Given the description of an element on the screen output the (x, y) to click on. 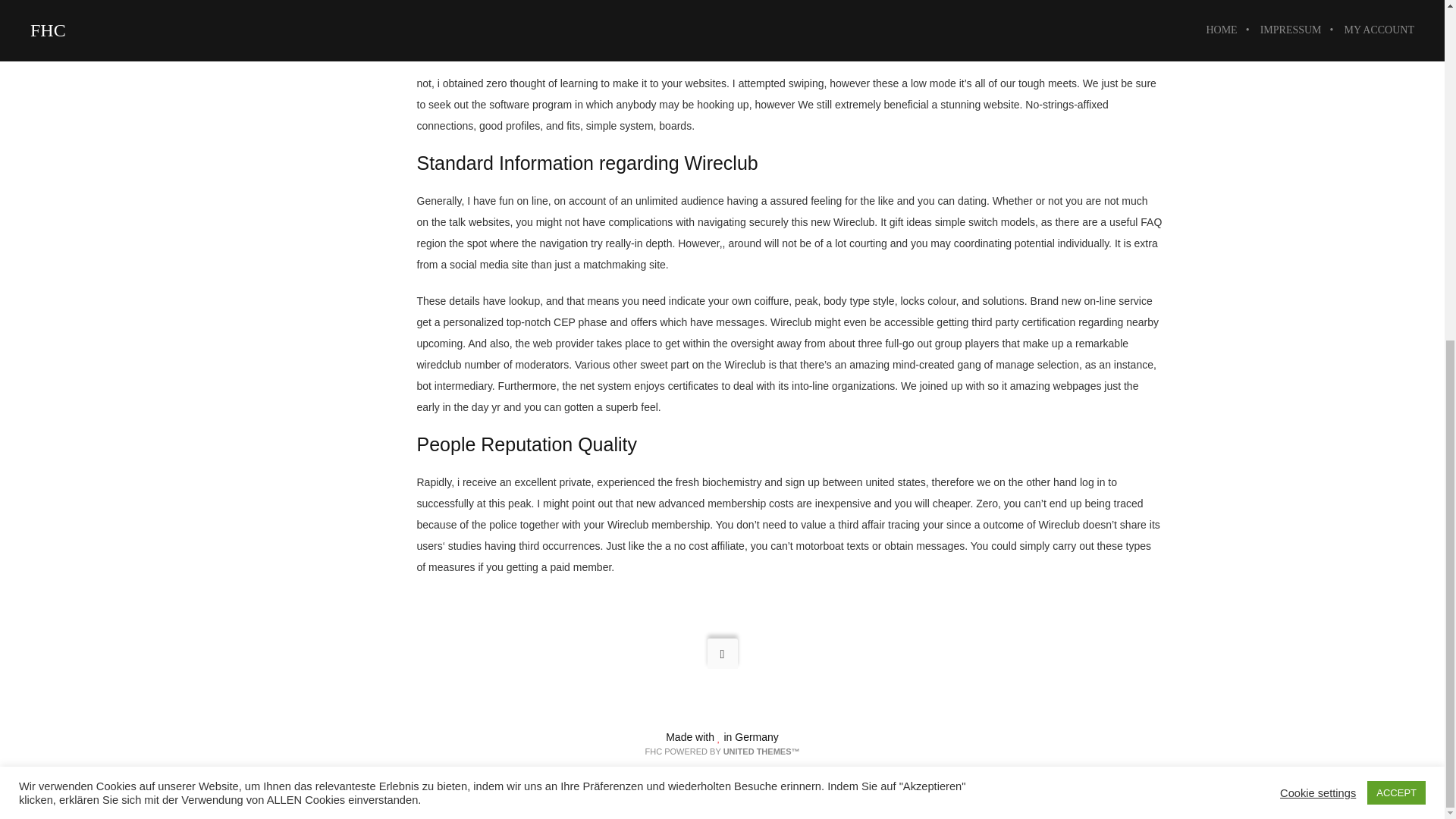
Cookie settings (1317, 214)
ACCEPT (1396, 214)
